Given the description of an element on the screen output the (x, y) to click on. 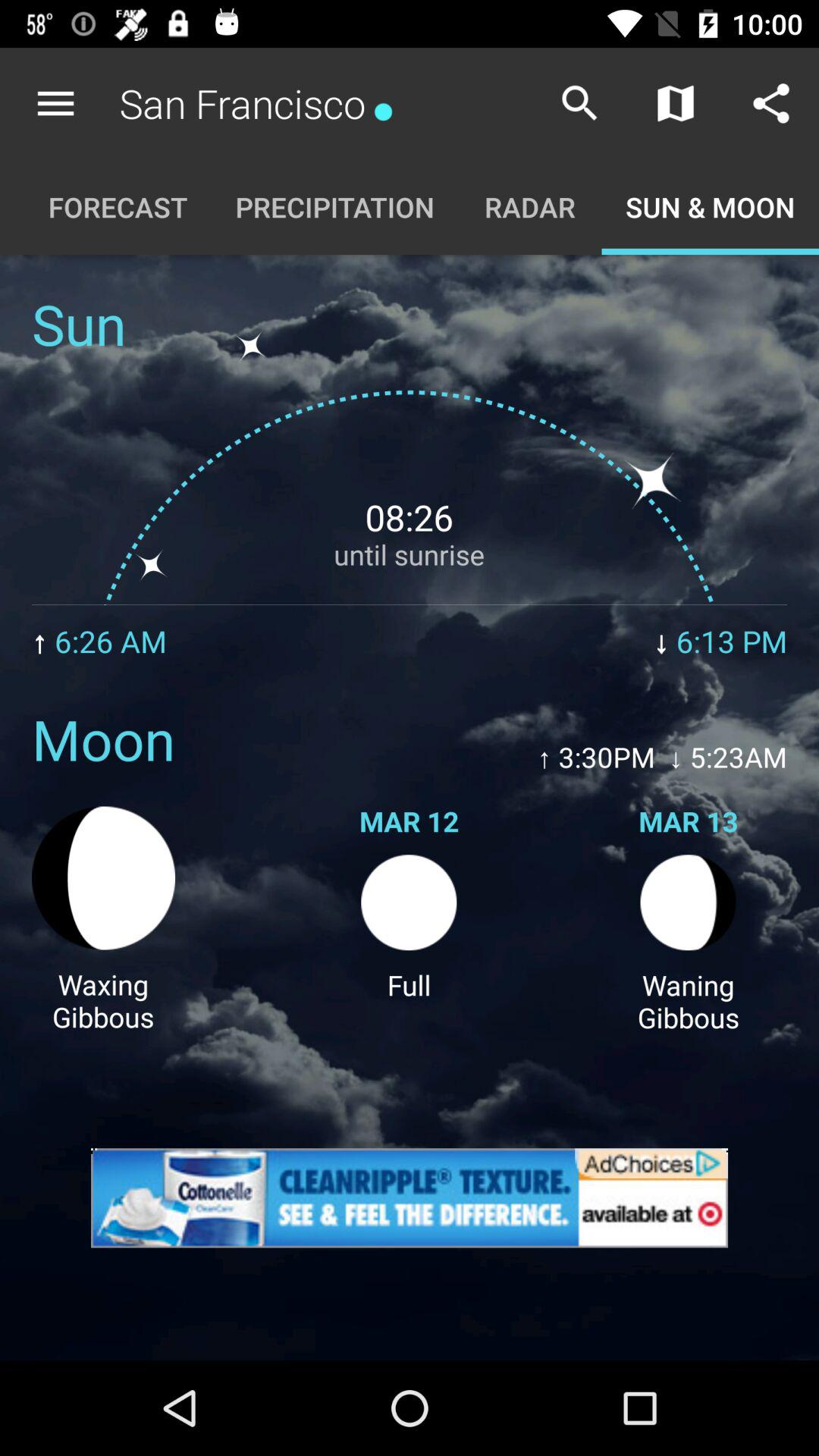
click item next to full (103, 1000)
